Given the description of an element on the screen output the (x, y) to click on. 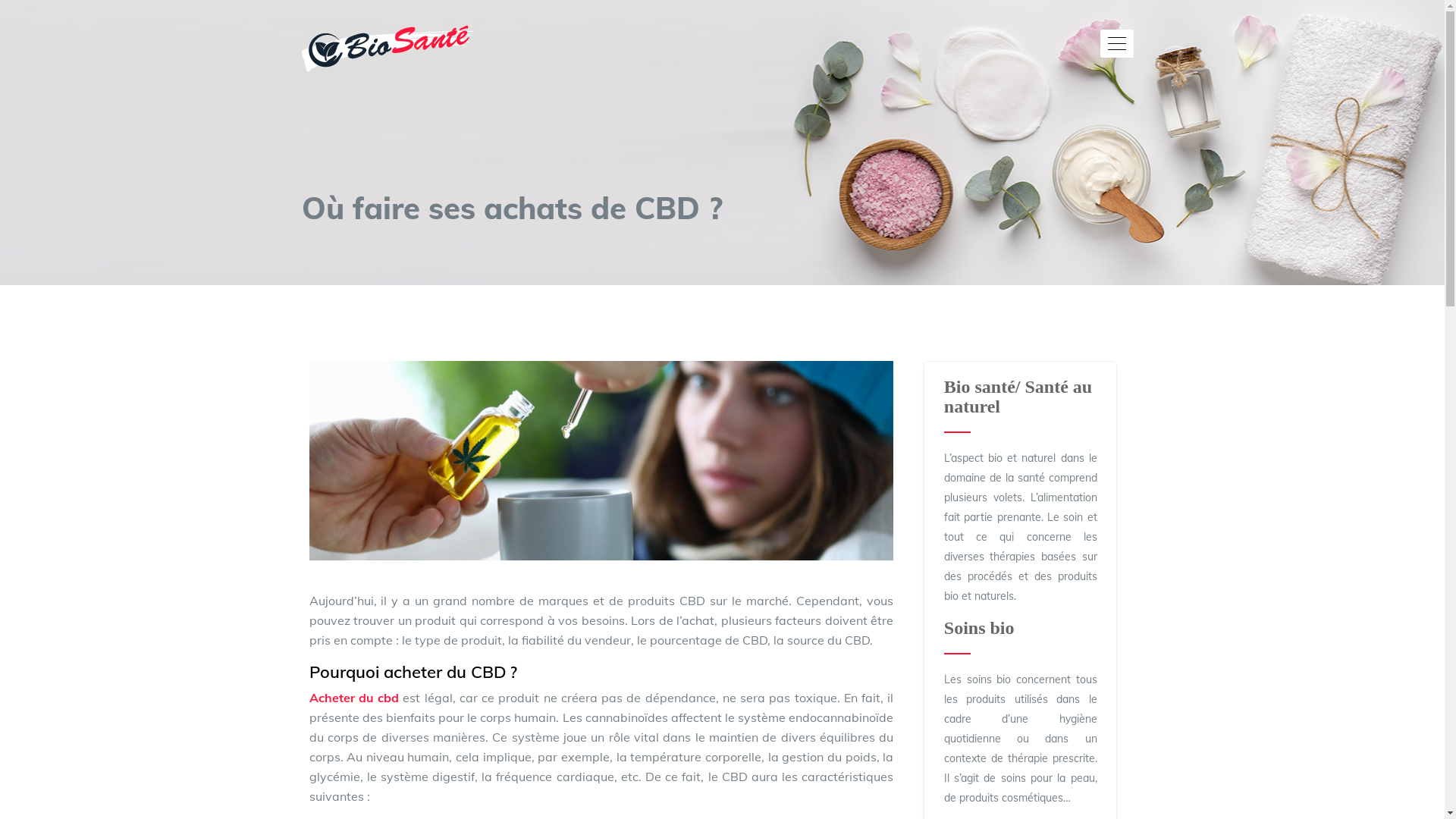
Acheter du cbd Element type: text (354, 697)
